Given the description of an element on the screen output the (x, y) to click on. 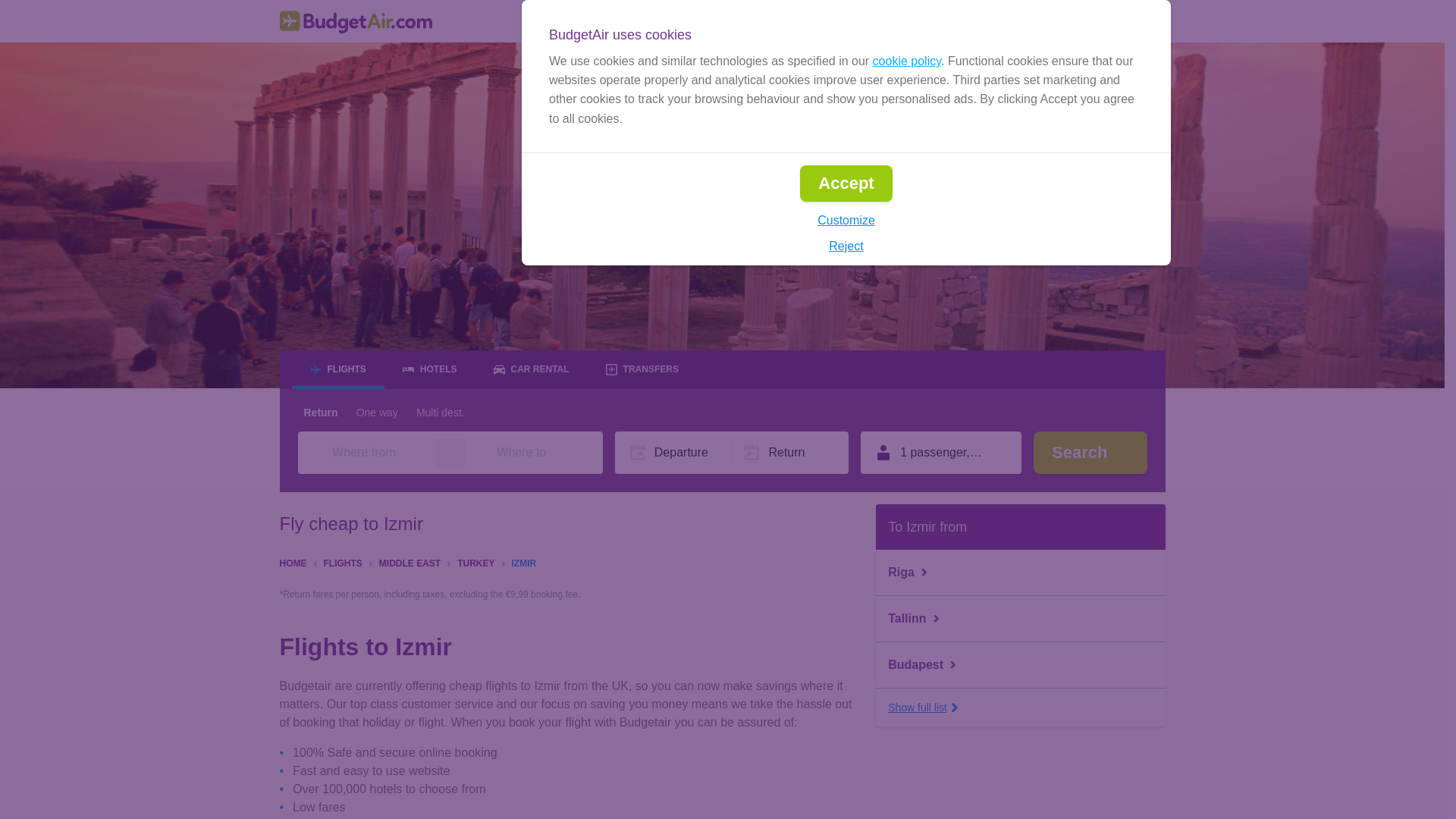
My Account (1116, 21)
HOME (292, 562)
Accept (845, 183)
MIDDLE EAST (409, 562)
Search (1090, 452)
cookie policy (906, 60)
TURKEY (476, 562)
English (902, 21)
FLIGHTS (342, 562)
